Given the description of an element on the screen output the (x, y) to click on. 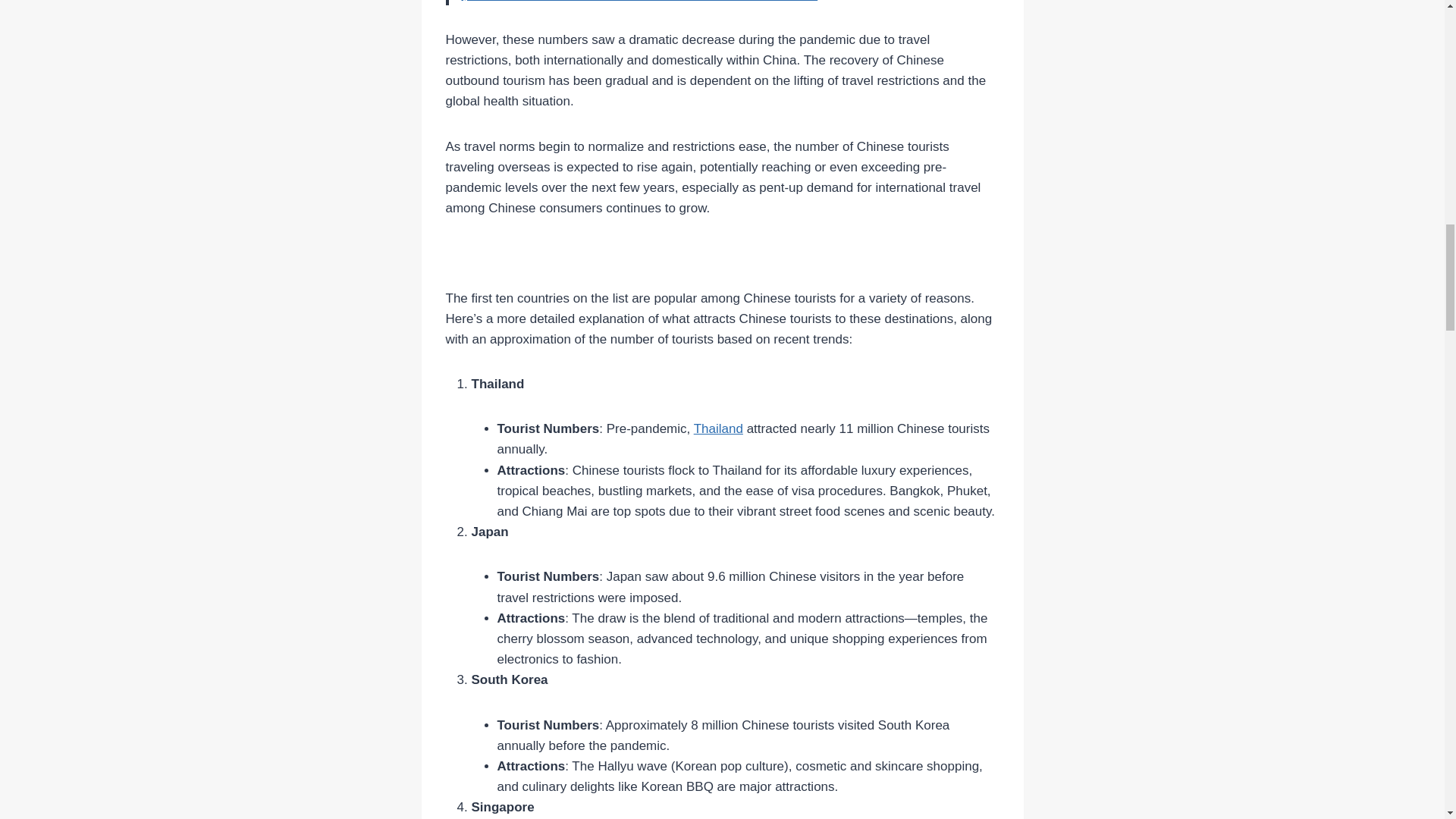
Thailand (718, 428)
